Given the description of an element on the screen output the (x, y) to click on. 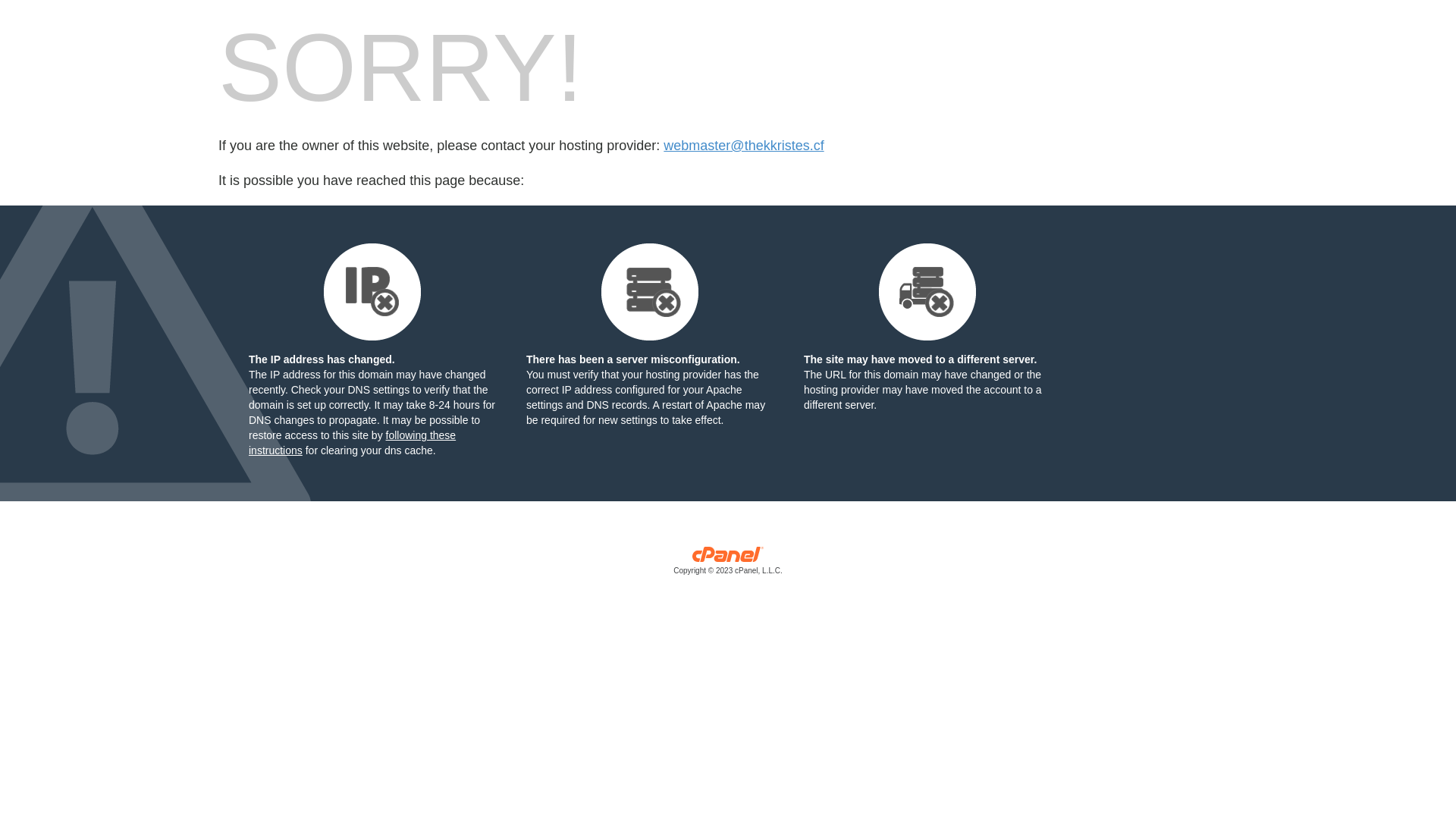
following these instructions Element type: text (351, 442)
webmaster@thekkristes.cf Element type: text (743, 145)
